Given the description of an element on the screen output the (x, y) to click on. 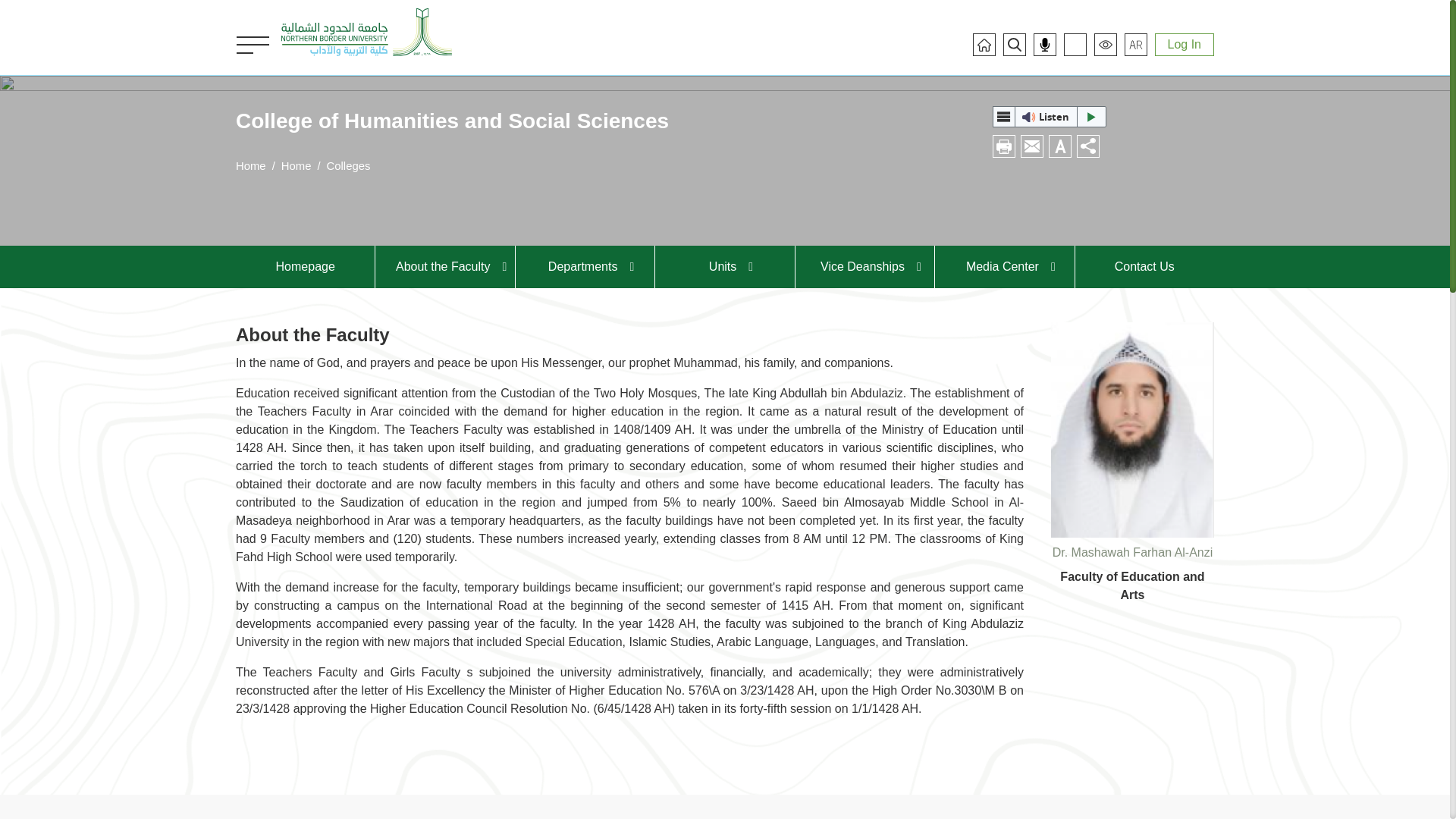
Dark Mode (1105, 44)
Log In (1184, 44)
Search (1014, 44)
voice-recognition (1044, 44)
deaf (1074, 44)
Home (366, 31)
Listen (1049, 116)
home (983, 44)
Deaf (1074, 44)
webReader menu (1003, 116)
